Given the description of an element on the screen output the (x, y) to click on. 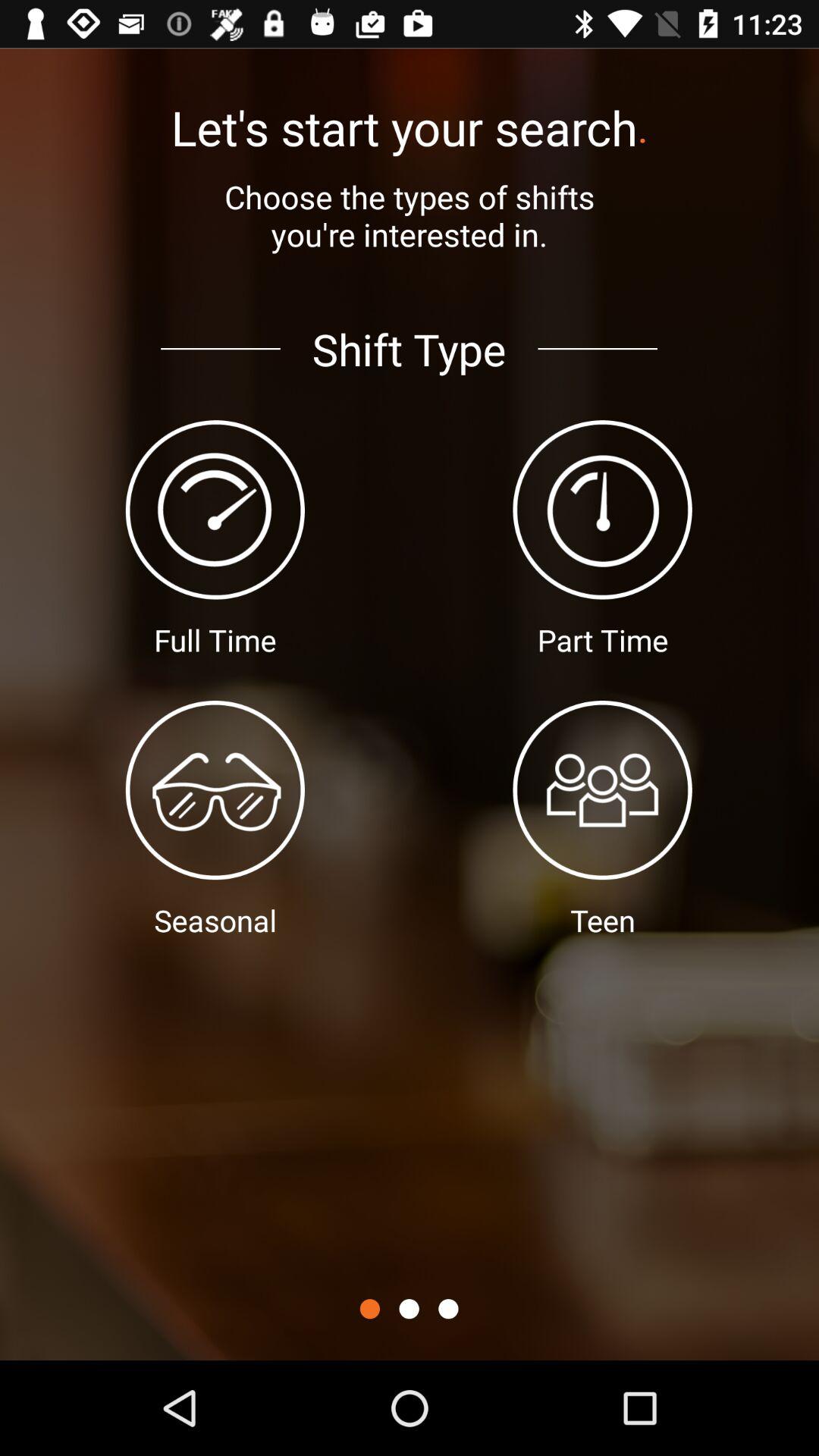
first page (369, 1308)
